Given the description of an element on the screen output the (x, y) to click on. 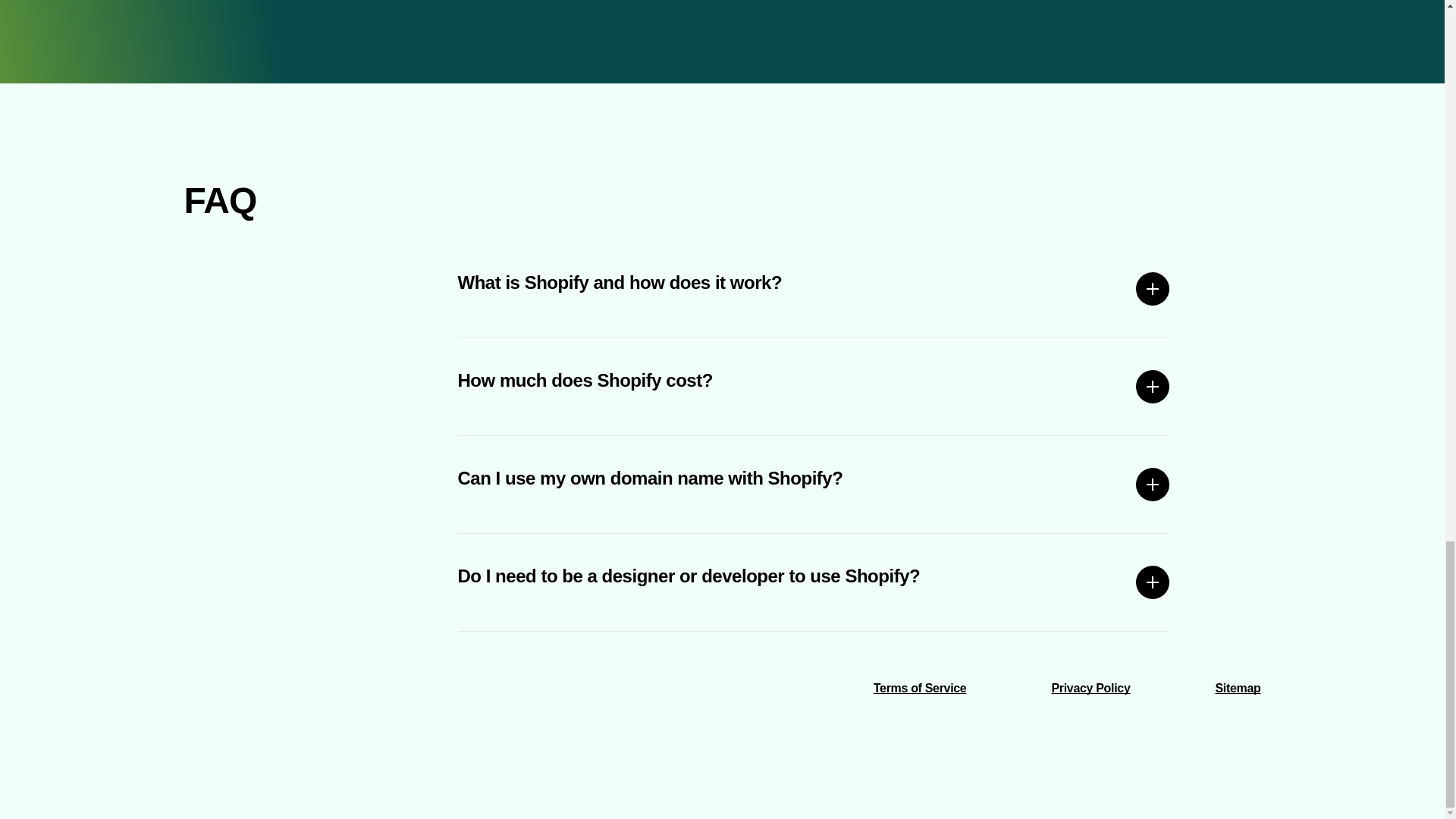
Terms of Service (919, 687)
Sitemap (1237, 687)
Privacy Policy (1090, 687)
How much does Shopify cost? (814, 386)
What is Shopify and how does it work? (814, 289)
Do I need to be a designer or developer to use Shopify? (814, 582)
Can I use my own domain name with Shopify? (814, 484)
